Given the description of an element on the screen output the (x, y) to click on. 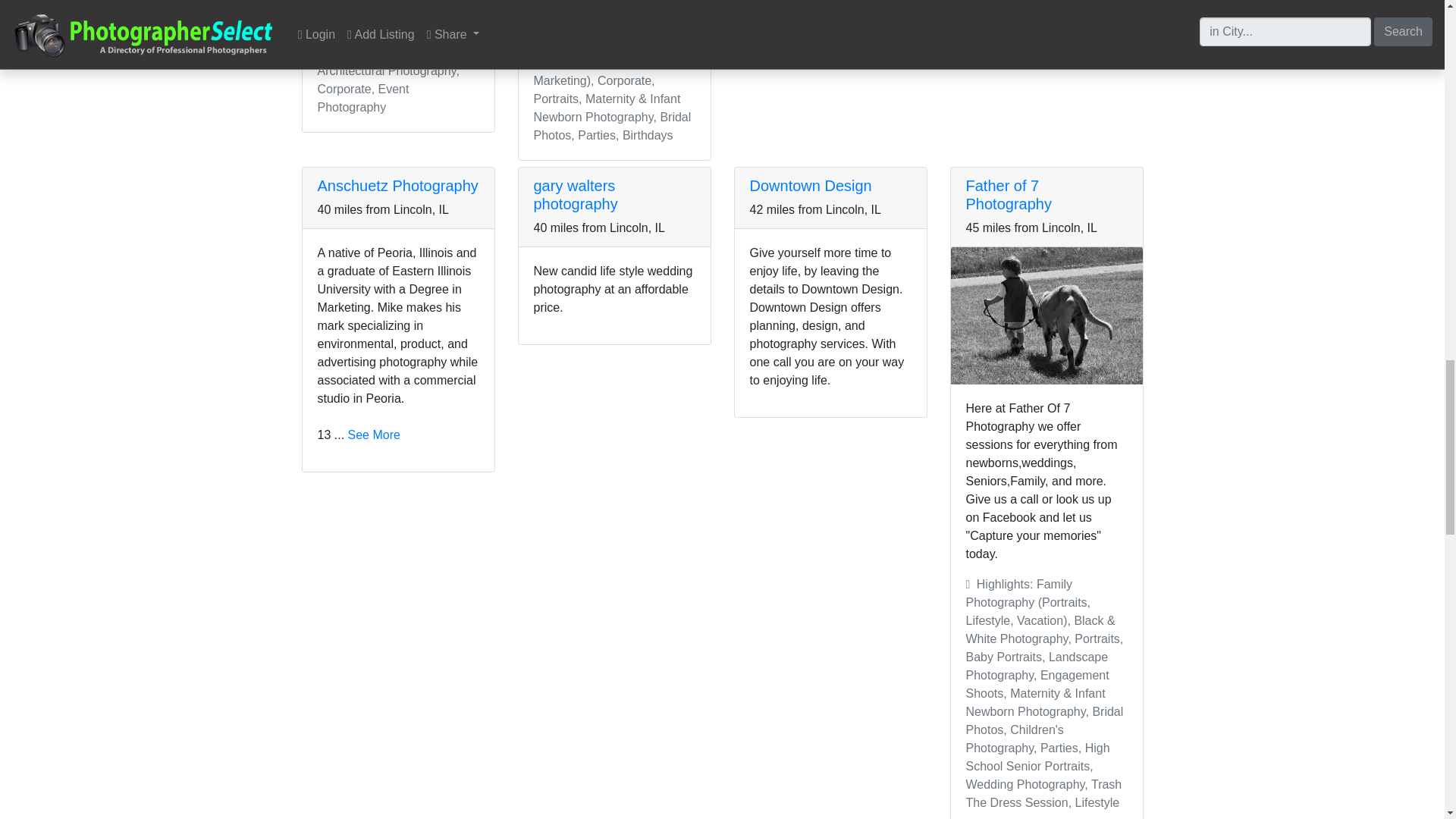
Downtown Design (809, 185)
See More (373, 434)
gary walters photography (575, 194)
Father of 7 Photography (1008, 194)
Anschuetz Photography (397, 185)
